Given the description of an element on the screen output the (x, y) to click on. 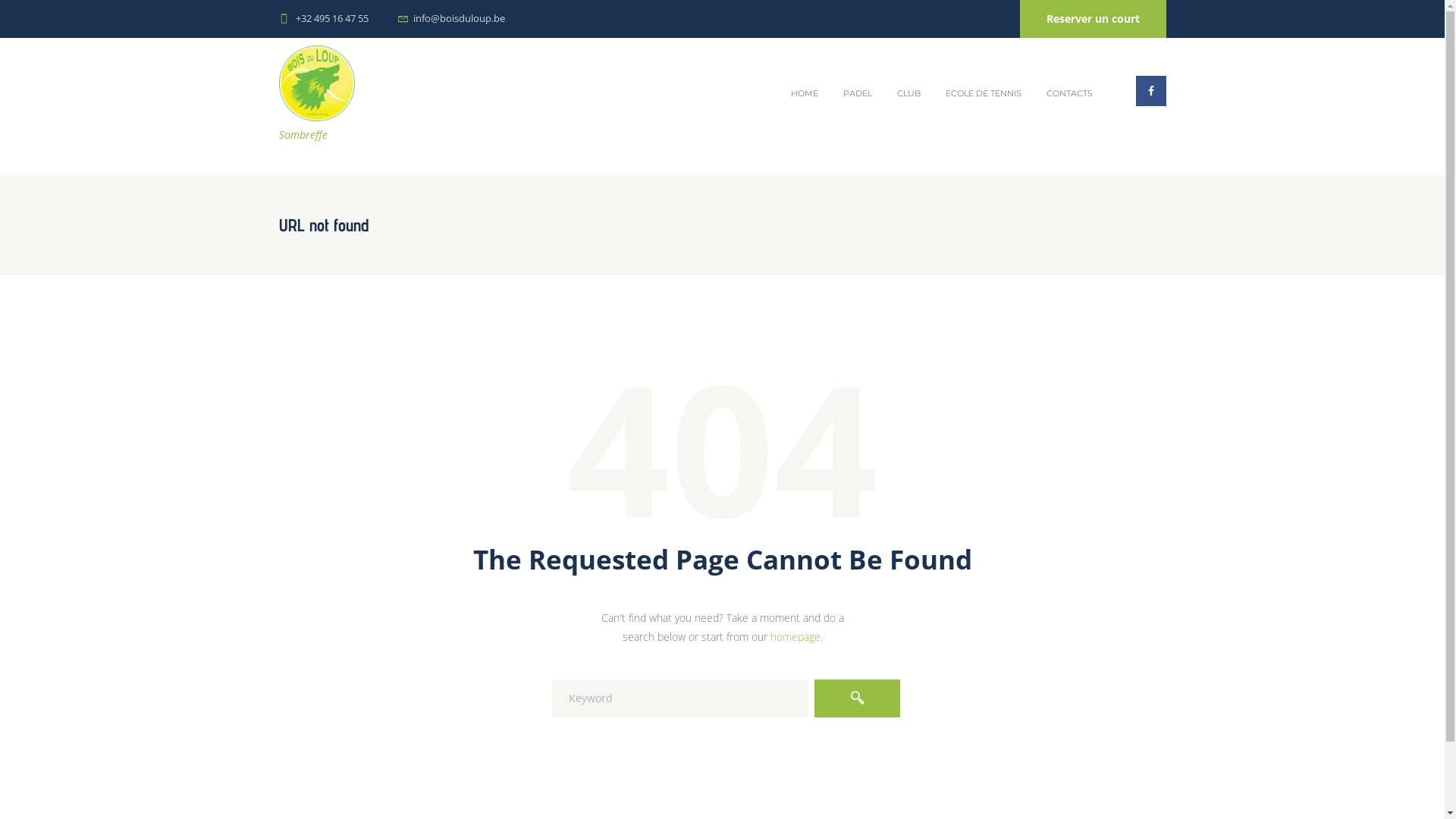
Sombreffe Element type: text (316, 95)
homepage Element type: text (795, 636)
Reserver un court Element type: text (1092, 18)
info@boisduloup.be Element type: text (459, 18)
+32 495 16 47 55 Element type: text (331, 18)
ECOLE DE TENNIS Element type: text (983, 92)
PADEL Element type: text (857, 92)
HOME Element type: text (804, 92)
Start search Element type: hover (856, 698)
CLUB Element type: text (908, 92)
CONTACTS Element type: text (1069, 92)
